Given the description of an element on the screen output the (x, y) to click on. 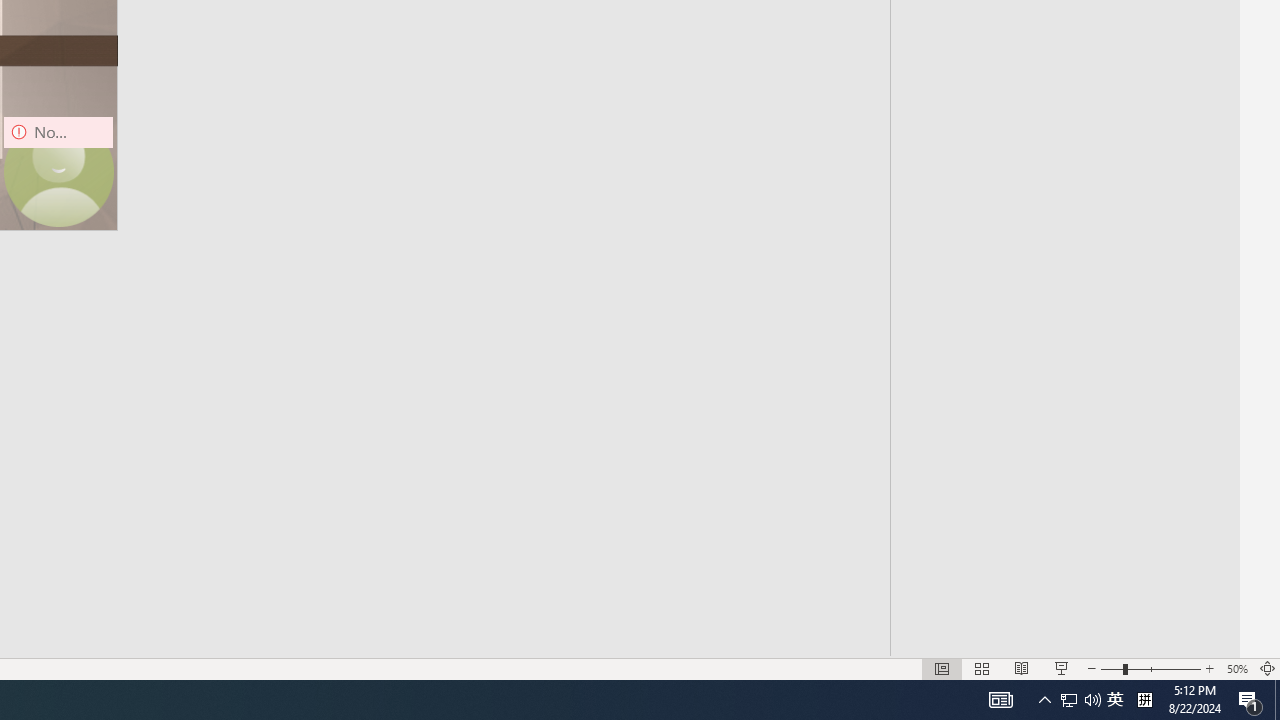
Camera 9, No camera detected. (58, 171)
Zoom 50% (1236, 668)
